Given the description of an element on the screen output the (x, y) to click on. 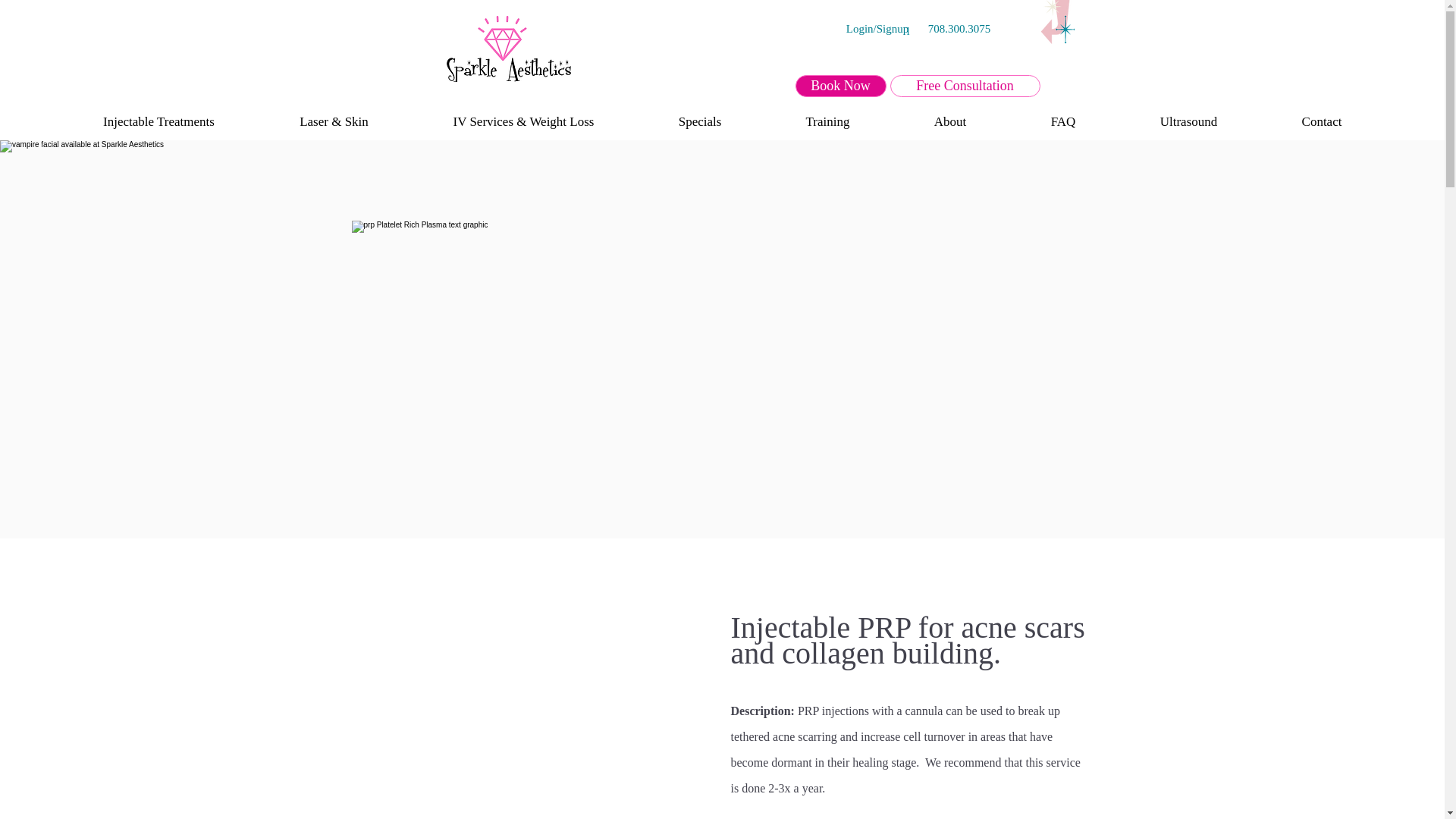
FAQ (1063, 121)
708.300.3075 (959, 28)
Book Now (839, 86)
Asset 2.png (507, 48)
Specials (699, 121)
Ultrasound (1188, 121)
Asset 3.png (1057, 22)
Injectable Treatments (159, 121)
About (950, 121)
Contact (1321, 121)
Free Consultation (965, 86)
prp.png (502, 338)
Training (826, 121)
